Given the description of an element on the screen output the (x, y) to click on. 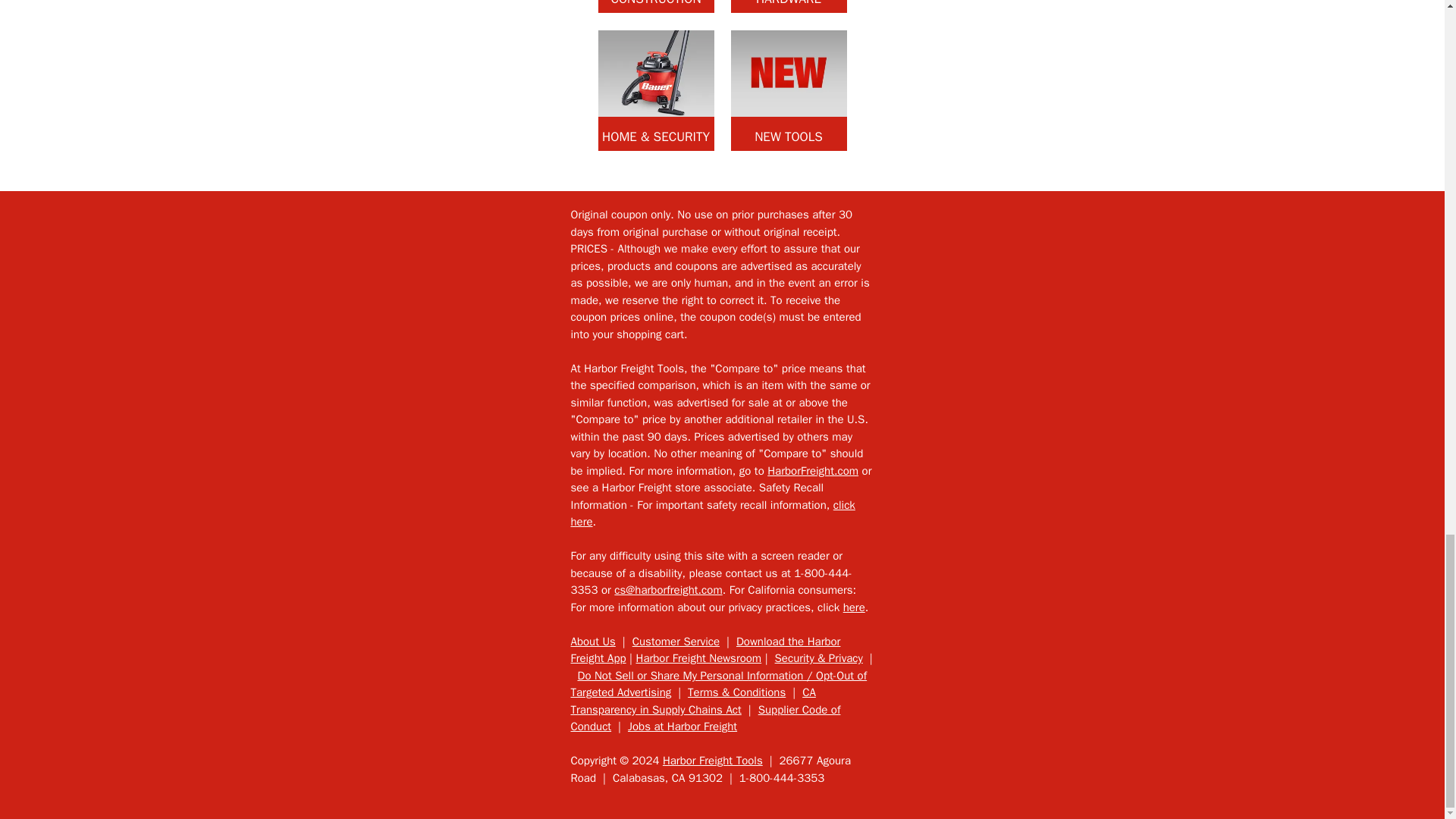
HarborFreight.com (813, 470)
About Us (592, 641)
here (853, 607)
NEW TOOLS (788, 90)
Download the Harbor Freight App (705, 649)
click here (712, 513)
Harbor Freight Newsroom (697, 658)
Customer Service (675, 641)
Harbor Freight Tools Jobs (681, 726)
HARDWARE (788, 6)
